Given the description of an element on the screen output the (x, y) to click on. 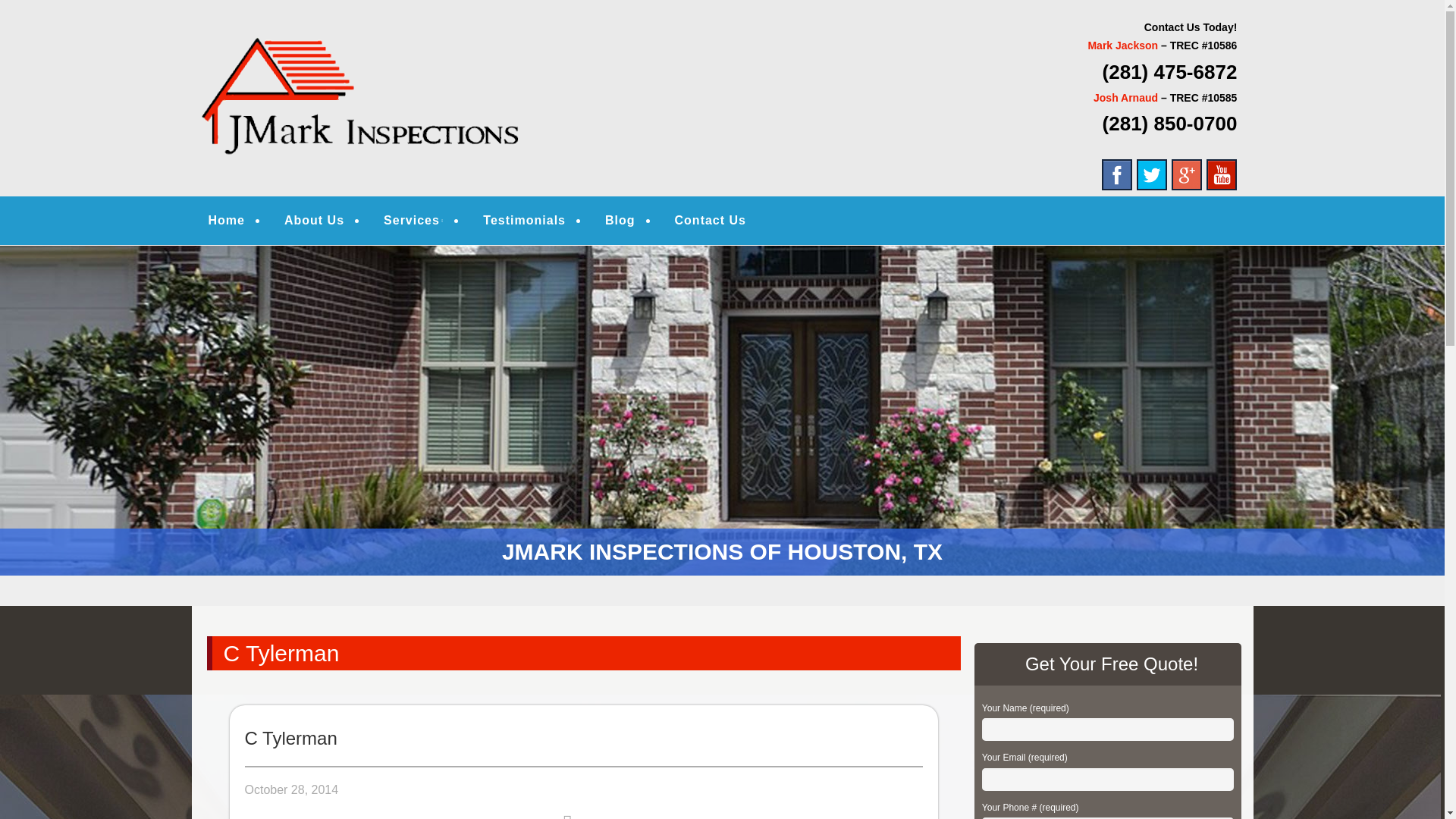
Home (225, 220)
Contact Us (710, 220)
Blog (619, 220)
Services (413, 220)
About Us (314, 220)
Testimonials (524, 220)
